Given the description of an element on the screen output the (x, y) to click on. 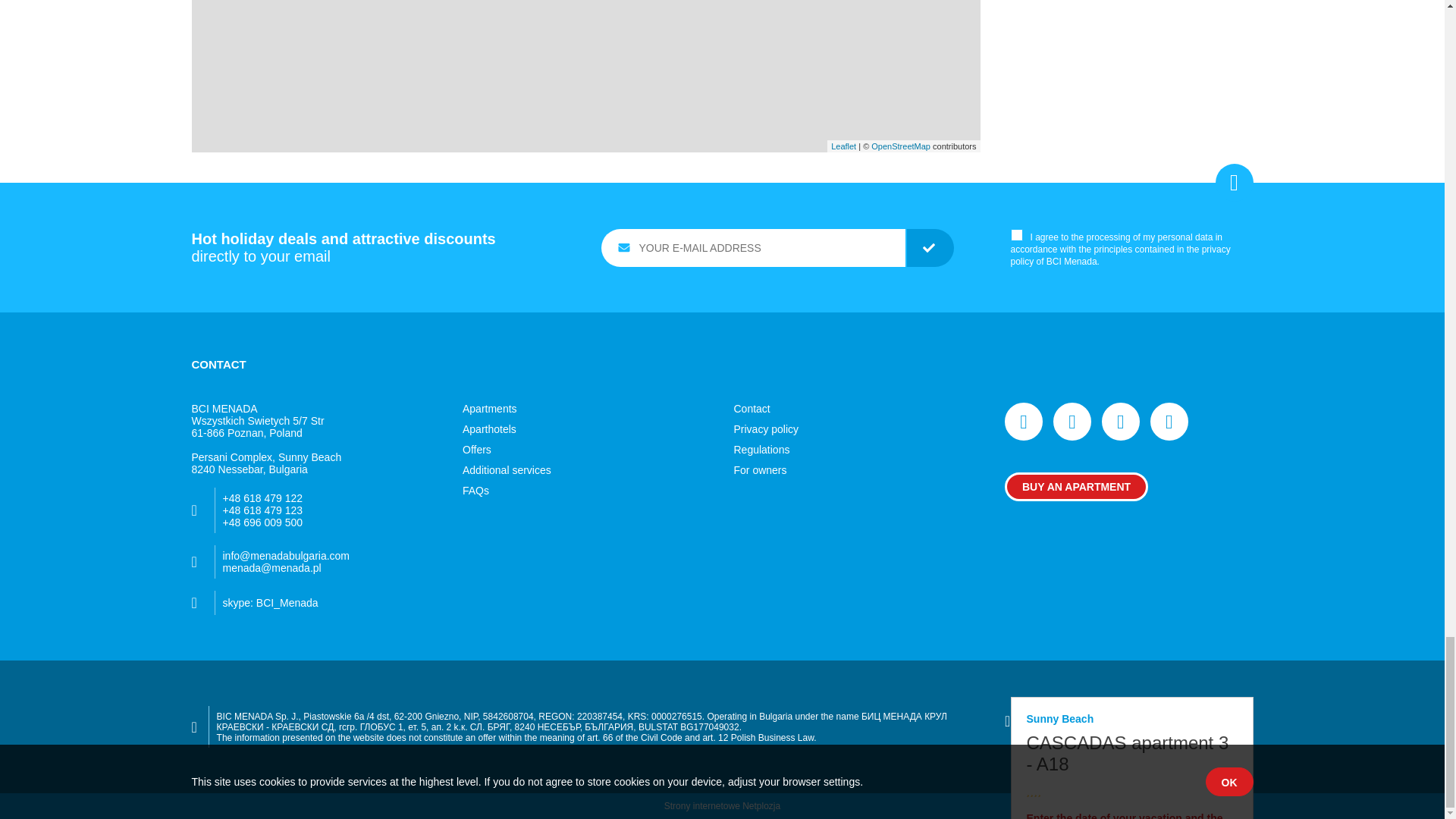
Sign up (930, 247)
A JS library for interactive maps (843, 144)
